Given the description of an element on the screen output the (x, y) to click on. 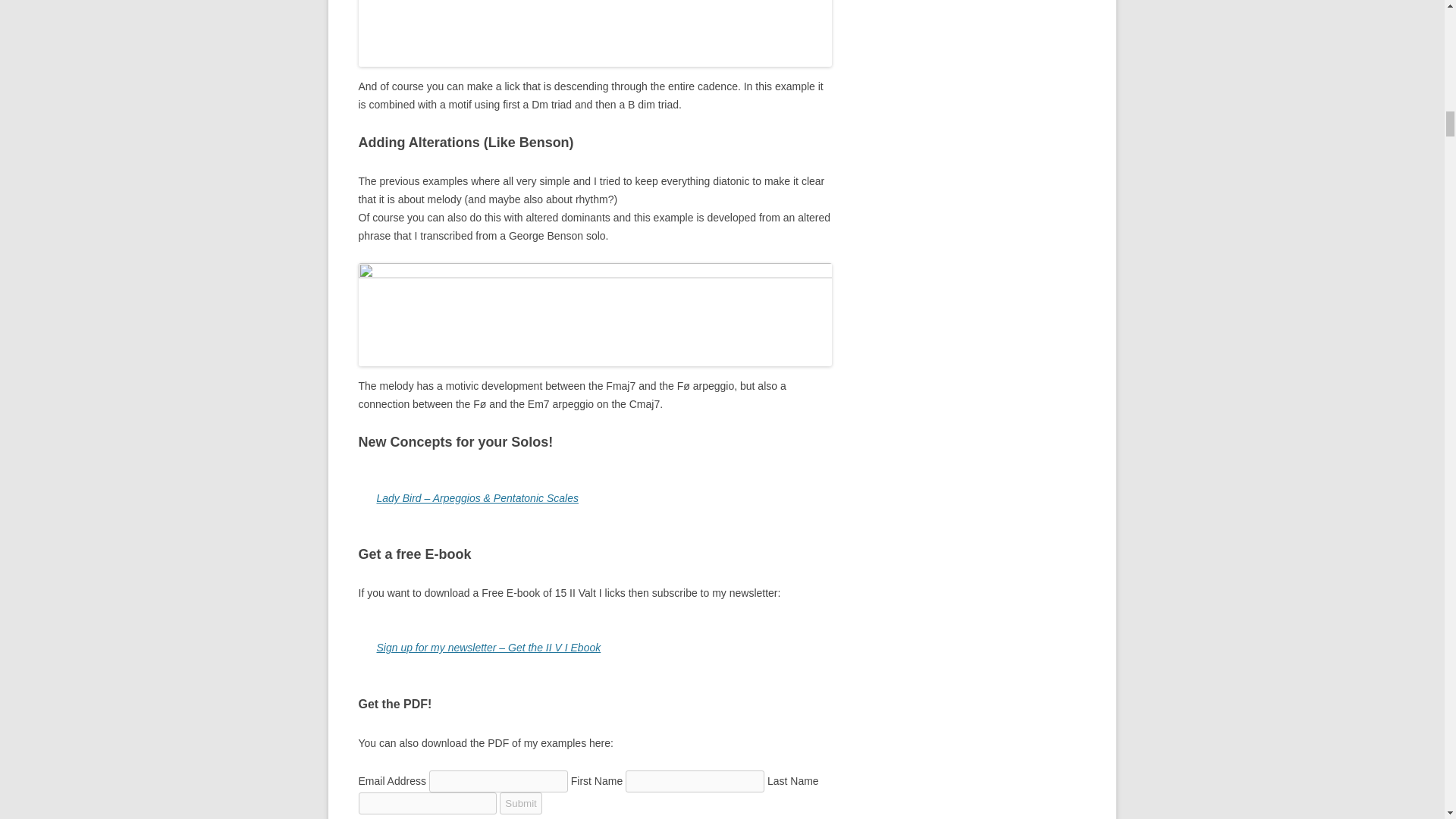
Submit (520, 803)
